Given the description of an element on the screen output the (x, y) to click on. 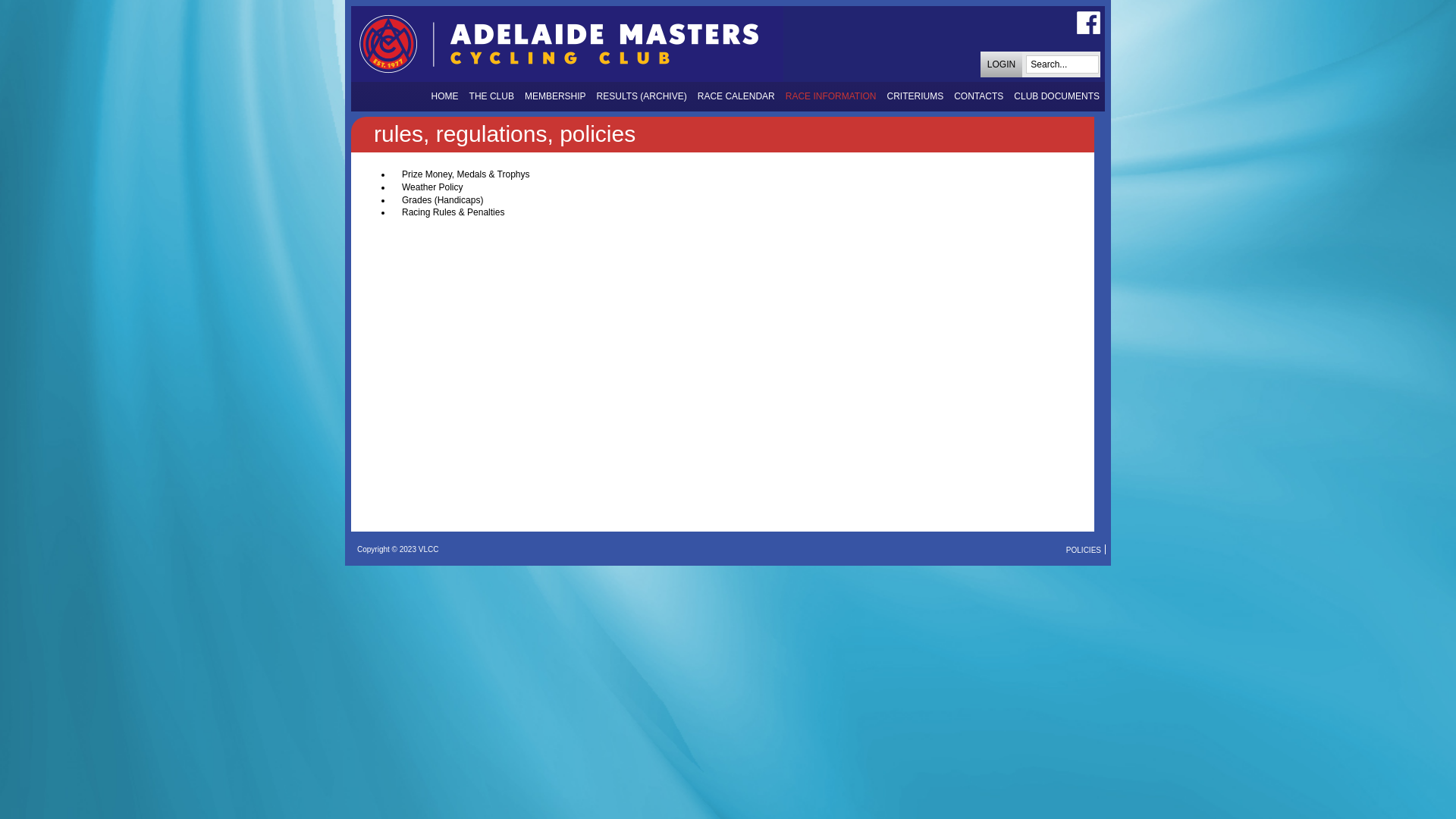
CONTACTS Element type: text (978, 96)
RACE INFORMATION Element type: text (830, 96)
Racing Rules & Penalties Element type: text (452, 212)
POLICIES Element type: text (1083, 549)
THE CLUB Element type: text (491, 96)
Prize Money, Medals & Trophys Element type: text (465, 174)
LOGIN Element type: text (1001, 66)
Weather Policy Element type: text (431, 187)
MEMBERSHIP Element type: text (555, 96)
Grades (Handicaps) Element type: text (442, 199)
HOME Element type: text (445, 96)
CRITERIUMS Element type: text (915, 96)
RACE CALENDAR Element type: text (736, 96)
CLUB DOCUMENTS Element type: text (1056, 96)
RESULTS (ARCHIVE) Element type: text (641, 96)
